Given the description of an element on the screen output the (x, y) to click on. 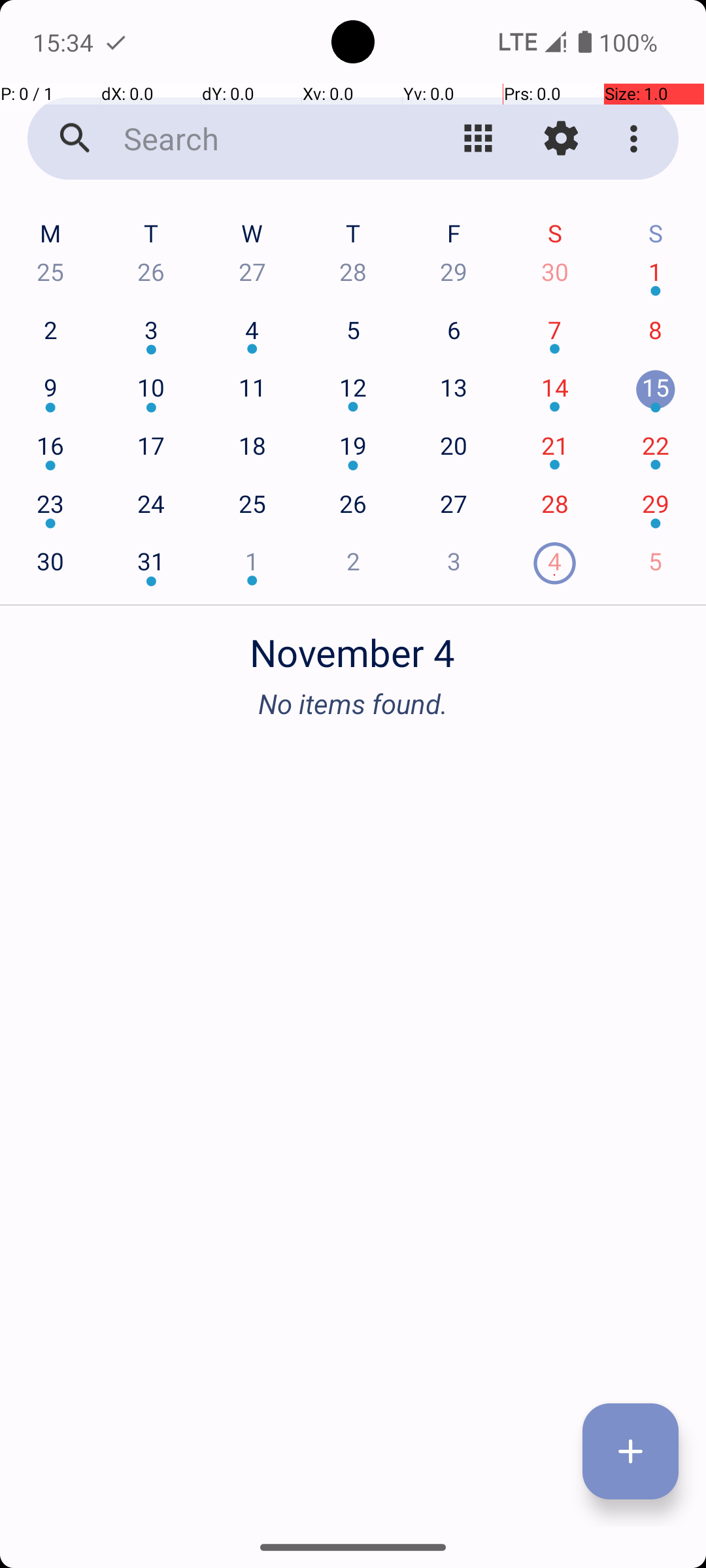
November 4 Element type: android.widget.TextView (352, 644)
